Given the description of an element on the screen output the (x, y) to click on. 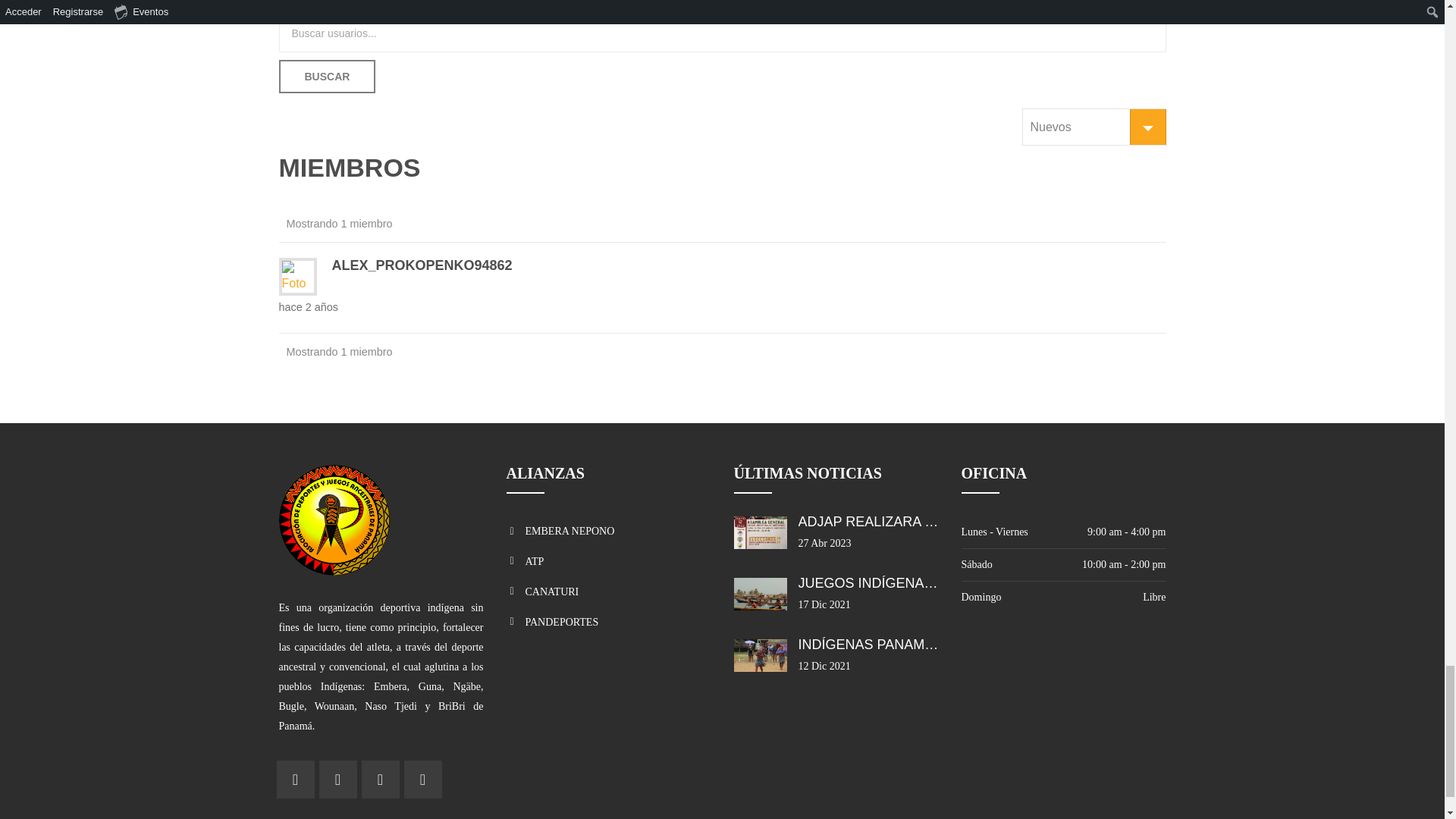
Buscar (327, 76)
